Given the description of an element on the screen output the (x, y) to click on. 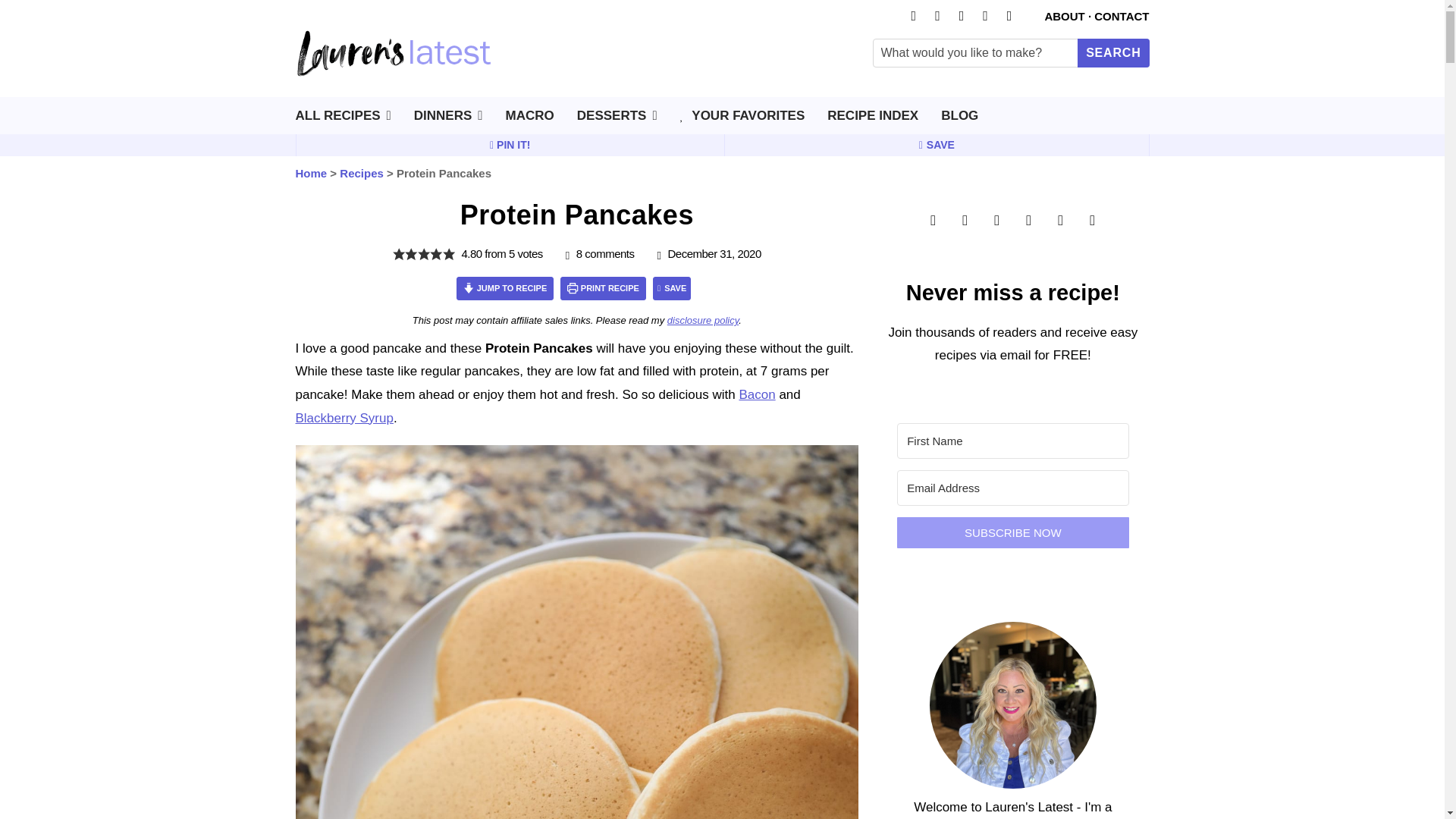
Search (1112, 52)
CONTACT (1121, 15)
ABOUT (1063, 15)
Search (1112, 52)
Pin It! (509, 144)
